Given the description of an element on the screen output the (x, y) to click on. 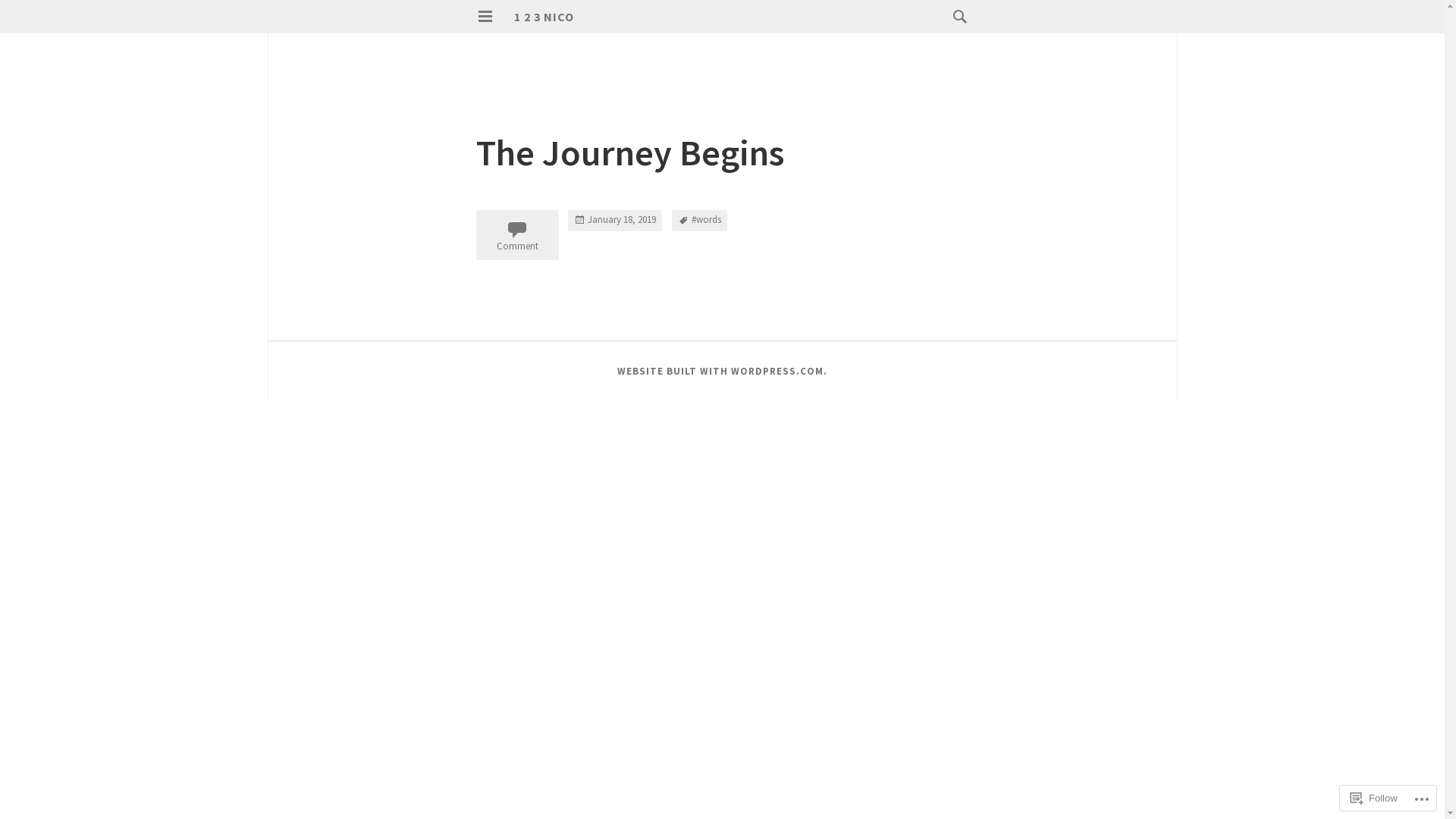
1 2 3 NICO Element type: text (544, 16)
#words Element type: text (699, 220)
Comment Element type: text (517, 235)
Follow Element type: text (1373, 797)
Search Element type: text (39, 19)
Search for: Element type: hover (956, 16)
WEBSITE BUILT WITH WORDPRESS.COM Element type: text (720, 370)
January 18, 2019 Element type: text (614, 220)
The Journey Begins Element type: text (630, 152)
